Given the description of an element on the screen output the (x, y) to click on. 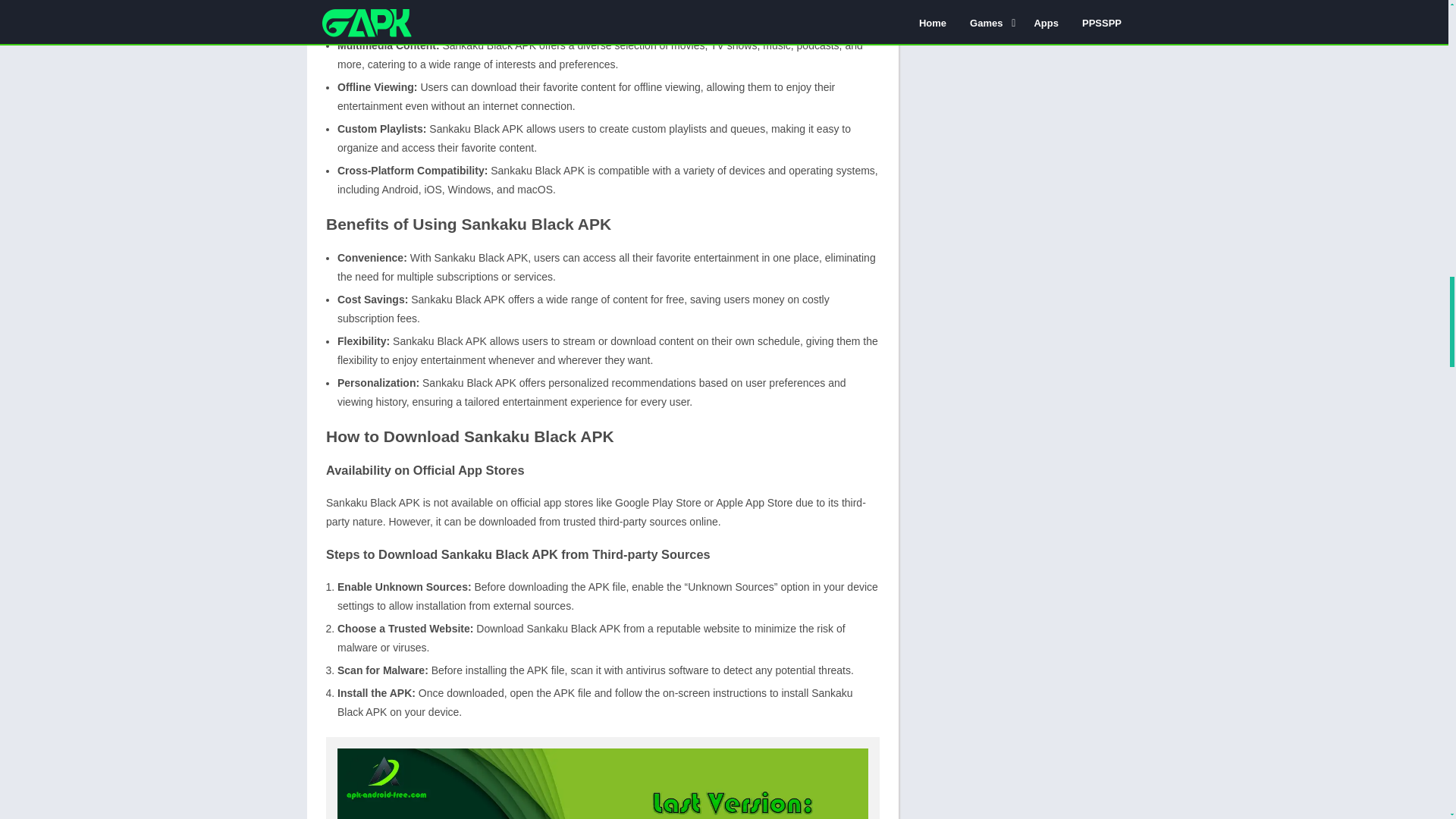
Sankaku Black apk android free.com1 (602, 783)
